Given the description of an element on the screen output the (x, y) to click on. 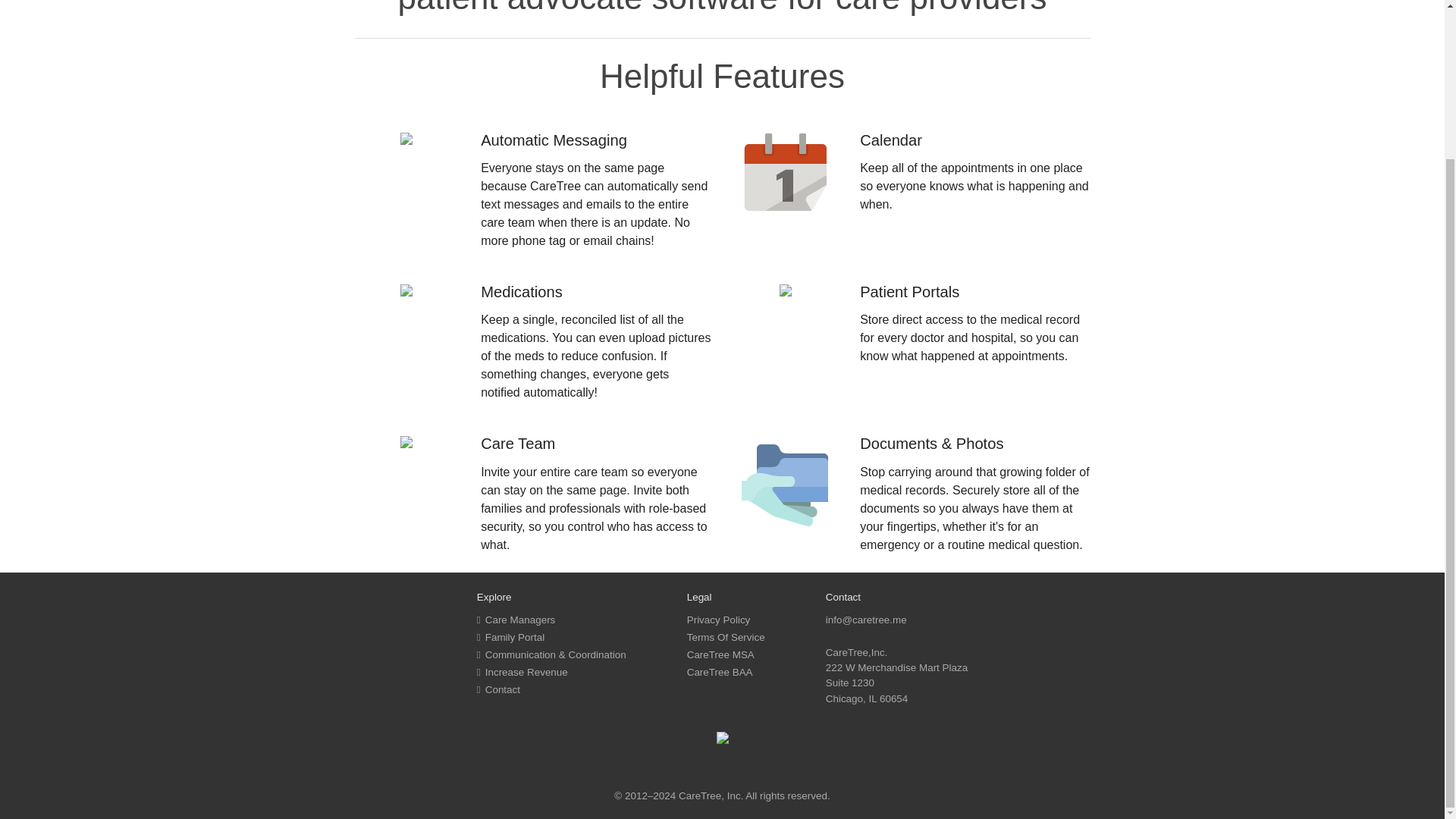
Contact (498, 689)
Increase Revenue (69, 21)
Care Managers (516, 619)
Terms Of Service (726, 636)
Family Portal (510, 636)
Increase Revenue (522, 672)
Privacy Policy (719, 619)
CareTree MSA (720, 654)
CareTree BAA (719, 672)
